Given the description of an element on the screen output the (x, y) to click on. 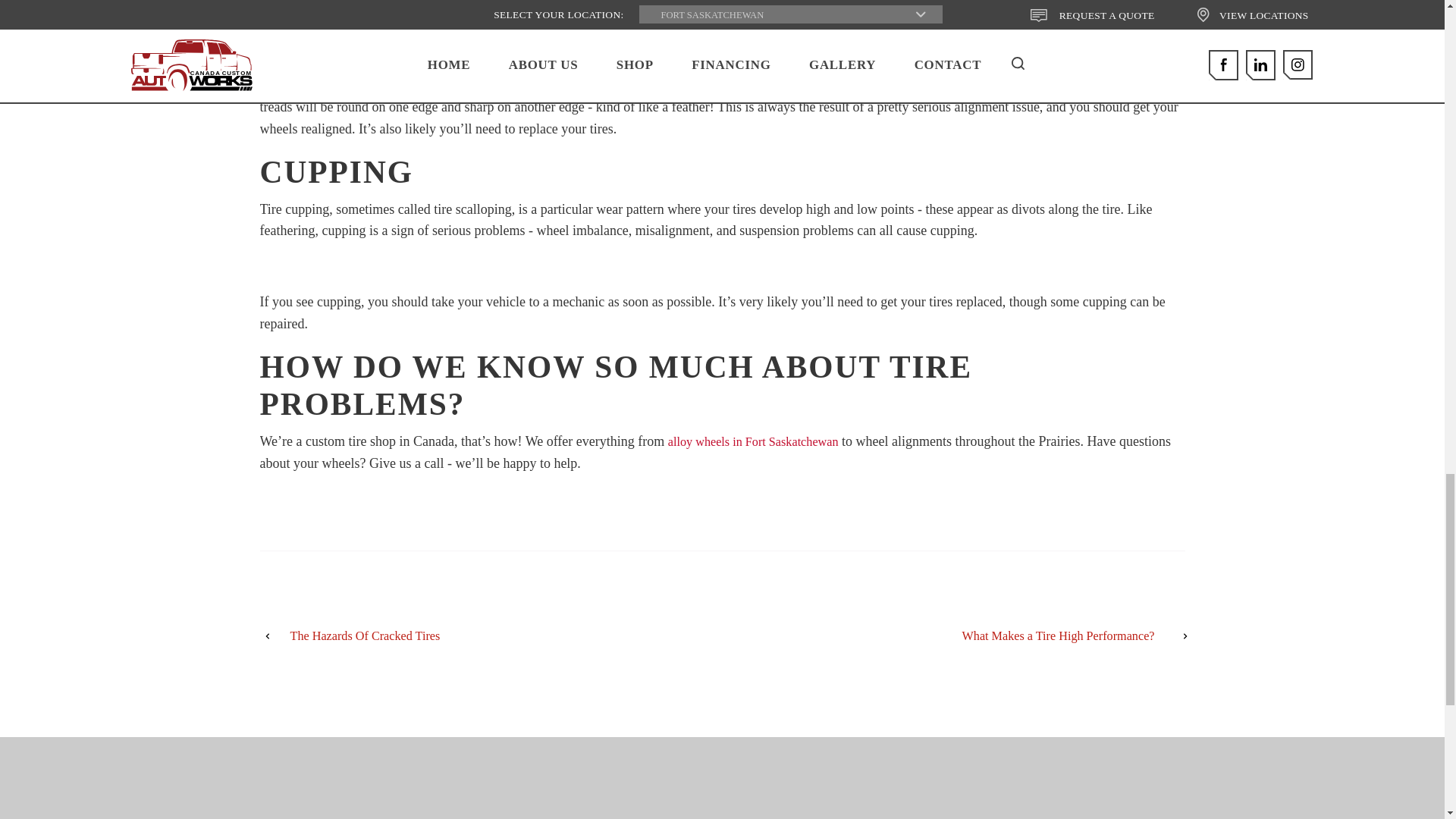
What Makes a Tire High Performance? (996, 636)
alloy wheels in Fort Saskatchewan (753, 441)
The Hazards Of Cracked Tires (447, 636)
